Given the description of an element on the screen output the (x, y) to click on. 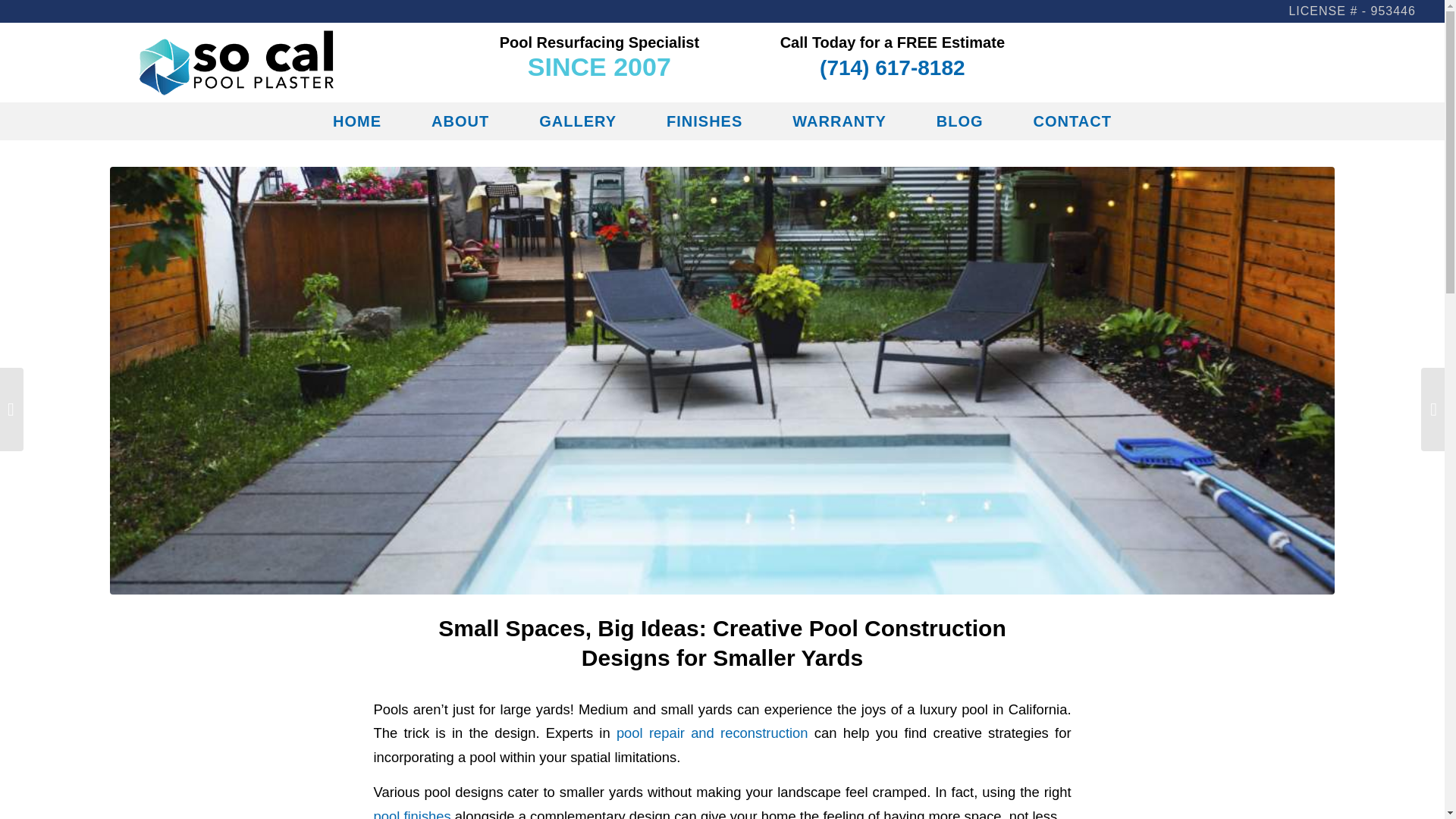
pool finishes (410, 813)
pool repair and reconstruction (711, 732)
socalpoolLogo copy (236, 62)
ABOUT (460, 121)
FINISHES (704, 121)
BLOG (959, 121)
GALLERY (577, 121)
WARRANTY (839, 121)
HOME (357, 121)
